Given the description of an element on the screen output the (x, y) to click on. 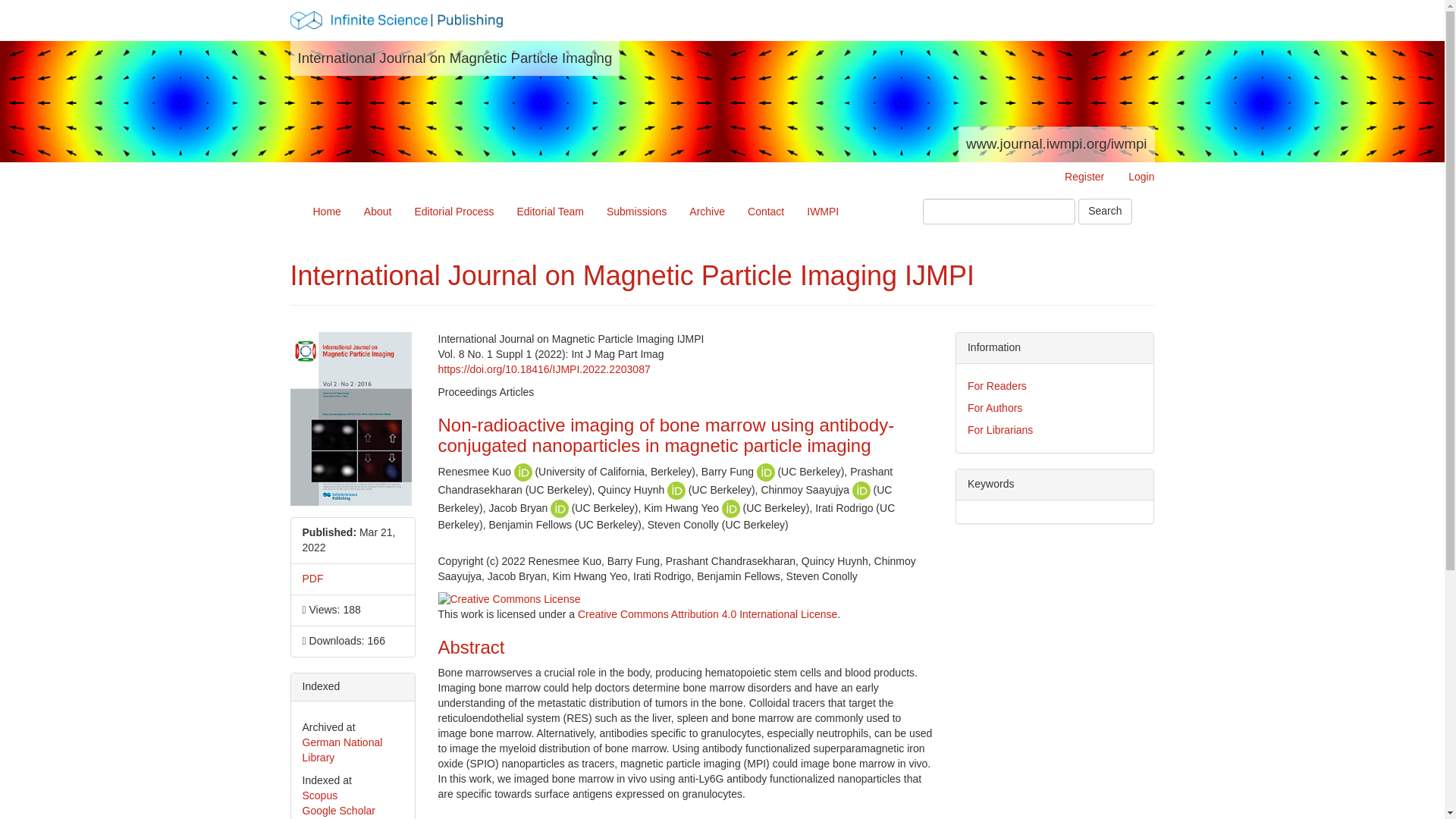
Contact (765, 211)
Submissions (636, 211)
For Readers (997, 386)
Google Scholar (338, 810)
Search (1104, 211)
IWMPI (822, 211)
Scopus (319, 795)
About (377, 211)
Editorial Process (454, 211)
Archive (707, 211)
